Given the description of an element on the screen output the (x, y) to click on. 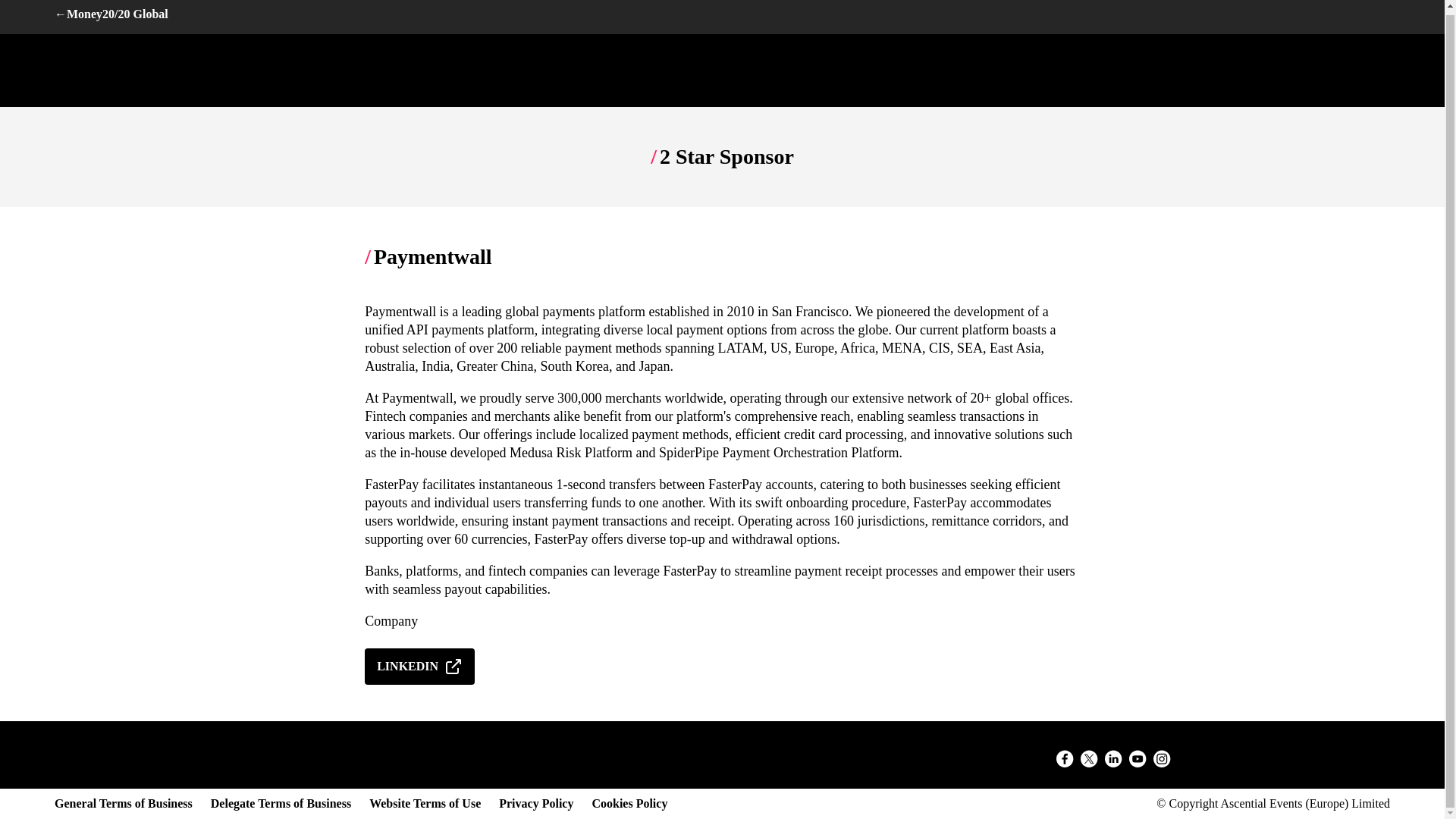
Website Terms of Use (424, 803)
LINKEDIN (425, 666)
General Terms of Business (123, 803)
Delegate Terms of Business (280, 803)
Cookies Policy (628, 803)
Privacy Policy (536, 803)
